Given the description of an element on the screen output the (x, y) to click on. 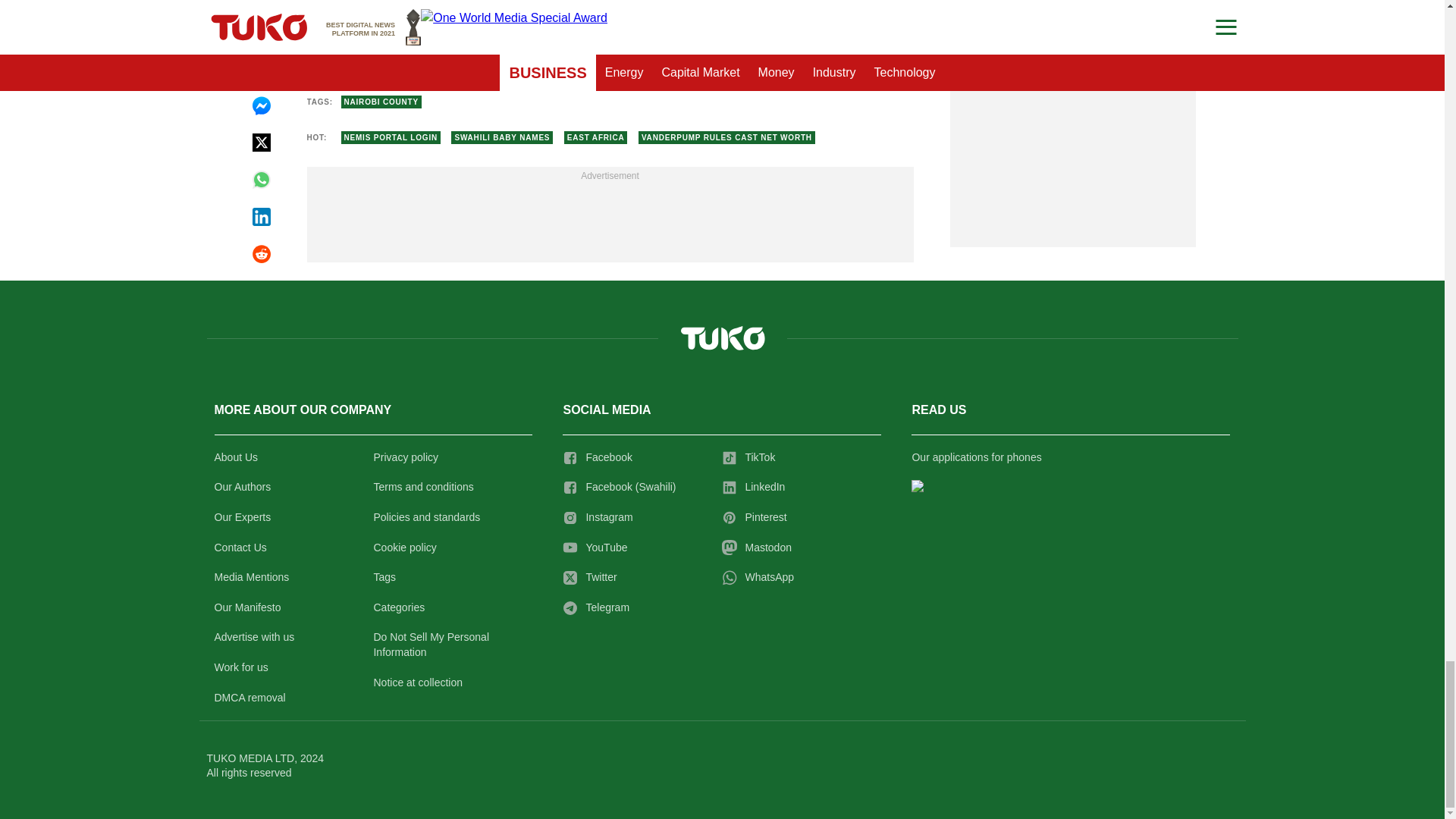
Author page (533, 52)
